Given the description of an element on the screen output the (x, y) to click on. 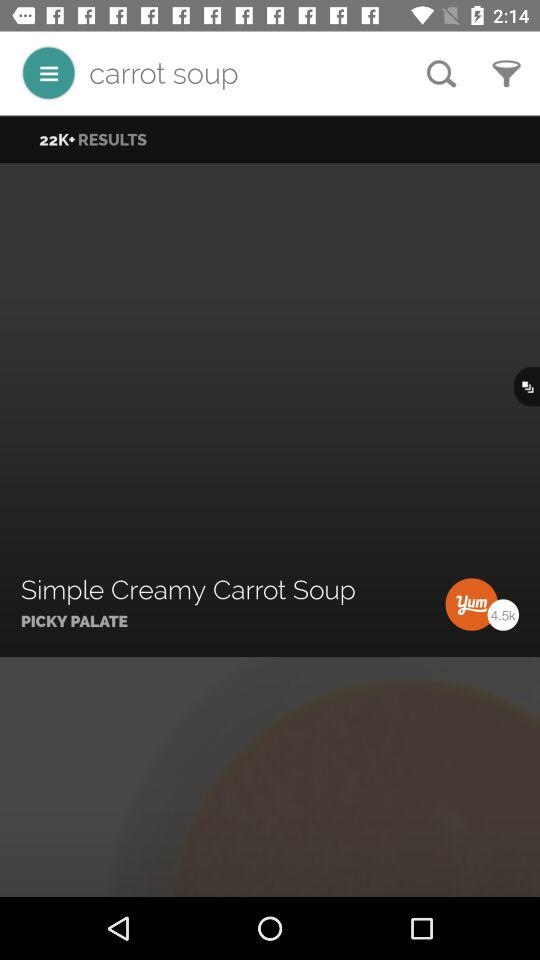
select menu bar (48, 72)
